Given the description of an element on the screen output the (x, y) to click on. 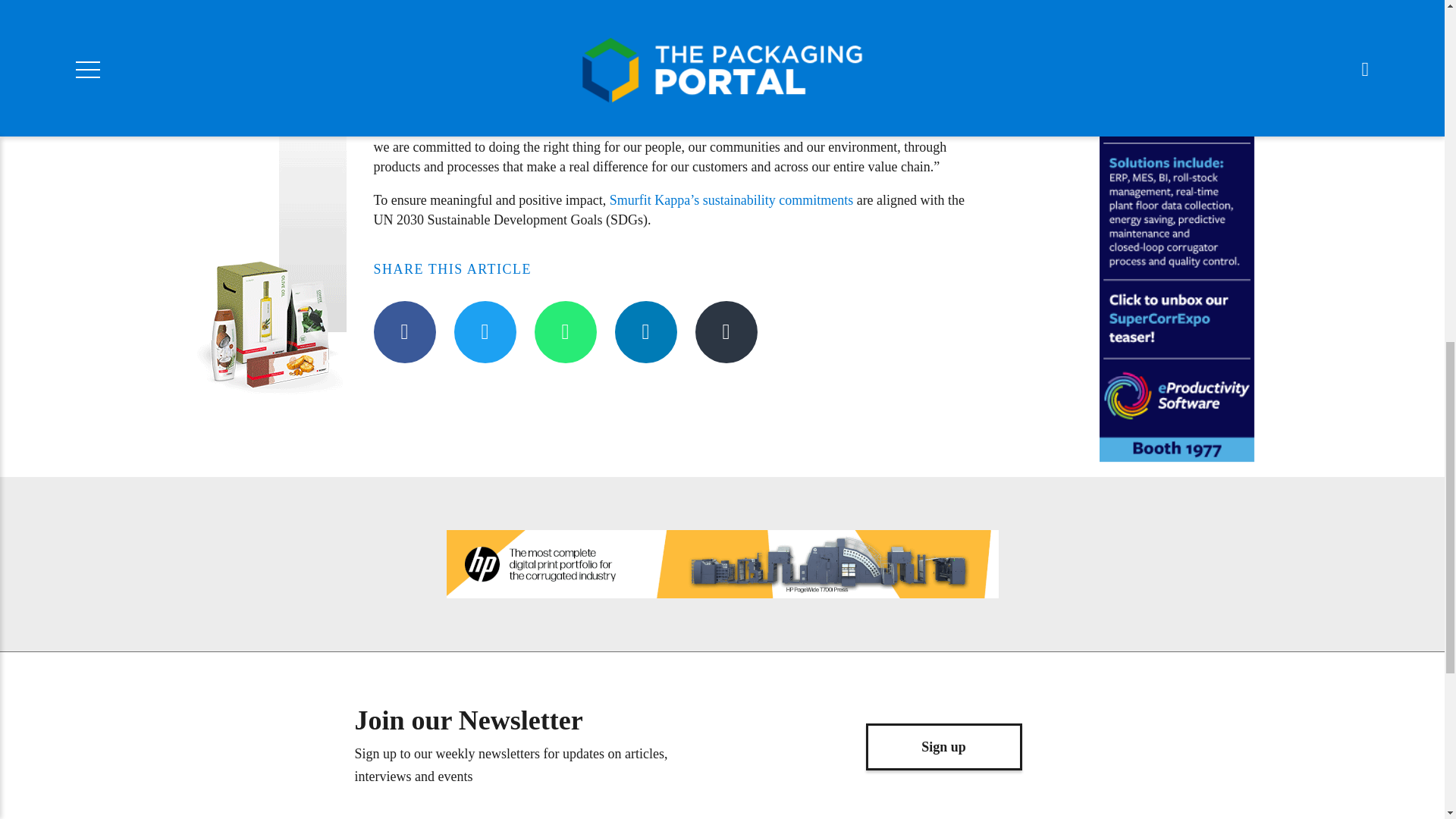
Share on Whatsapp (564, 332)
Share on Facebook (403, 332)
Share on LinkedIn (645, 332)
Sign up (944, 746)
Share on Twitter (483, 332)
Send link to friend (725, 332)
